Given the description of an element on the screen output the (x, y) to click on. 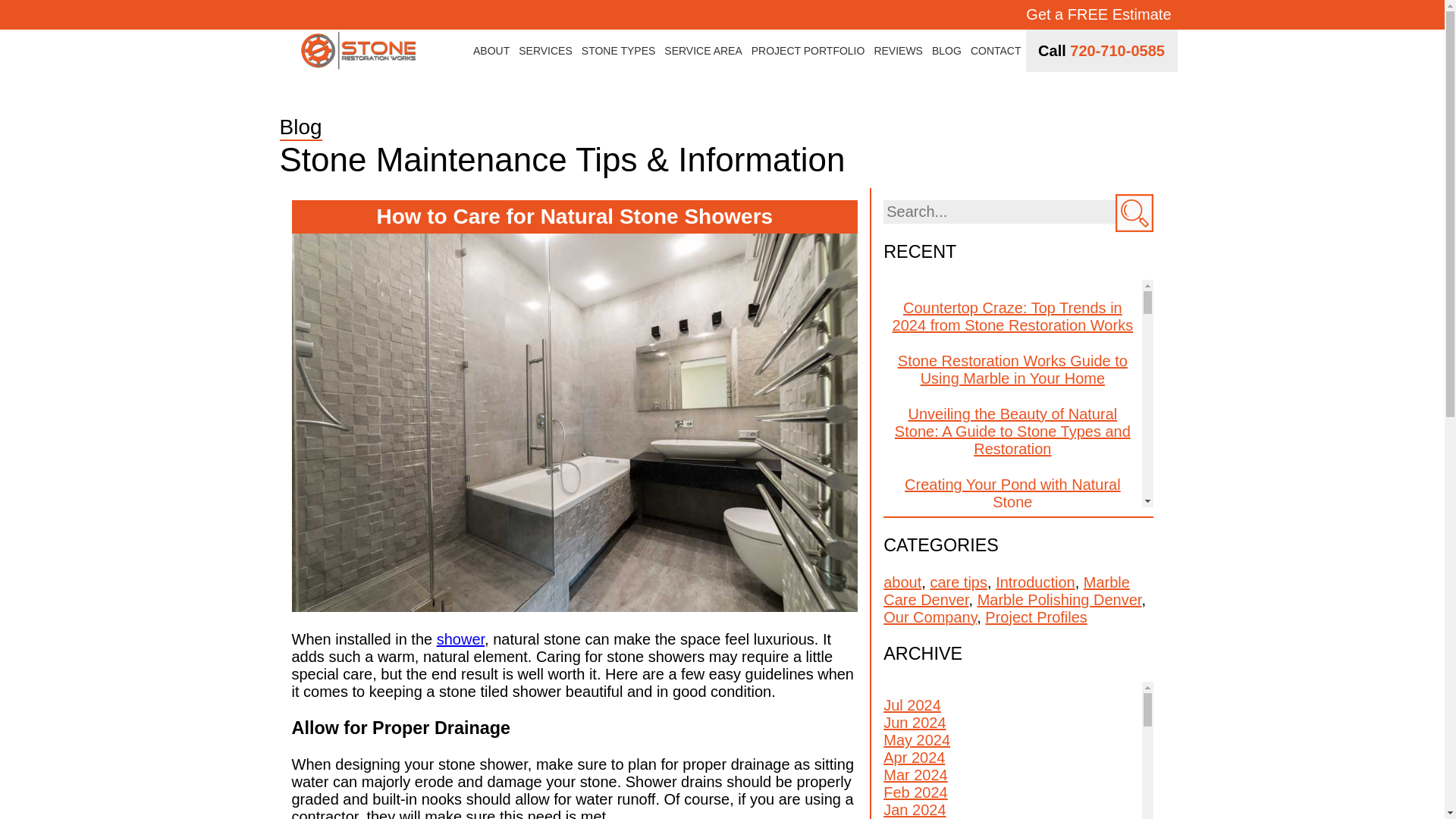
search (1134, 212)
REVIEWS (898, 50)
ABOUT (490, 50)
How to Care for Natural Stone Showers (574, 216)
Stone Restoration Works (358, 52)
shower (460, 638)
Exploring the Most Popular Natural Stones for Flooring (1012, 546)
Stone Restoration Works (357, 50)
search (1134, 212)
STONE TYPES (618, 50)
PROJECT PORTFOLIO (807, 50)
Stone Restoration Works Guide to Using Marble in Your Home (1012, 370)
